Given the description of an element on the screen output the (x, y) to click on. 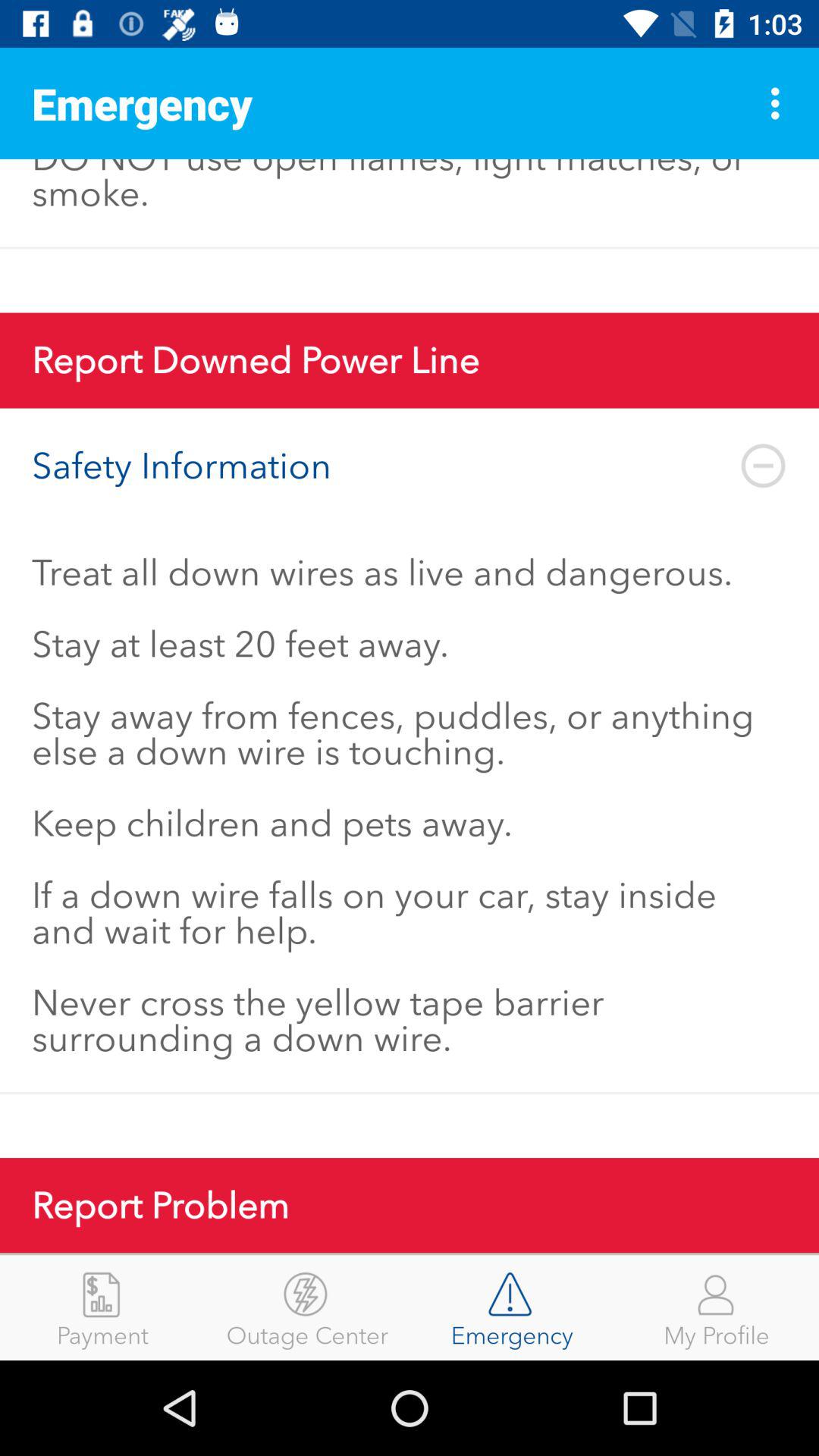
tap my profile at the bottom right corner (716, 1307)
